Given the description of an element on the screen output the (x, y) to click on. 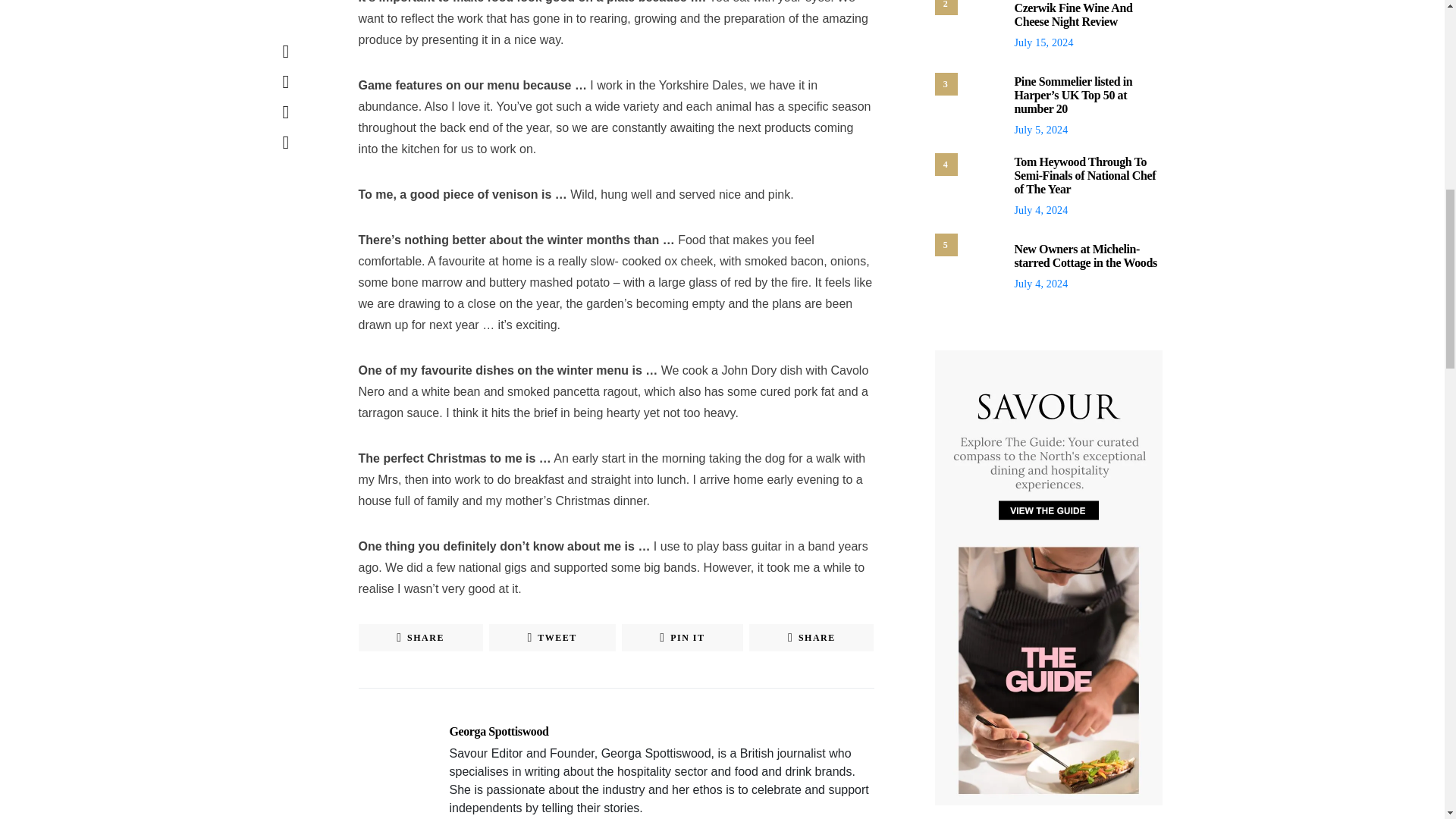
Gravatar for Georga Spottiswood (388, 754)
